Given the description of an element on the screen output the (x, y) to click on. 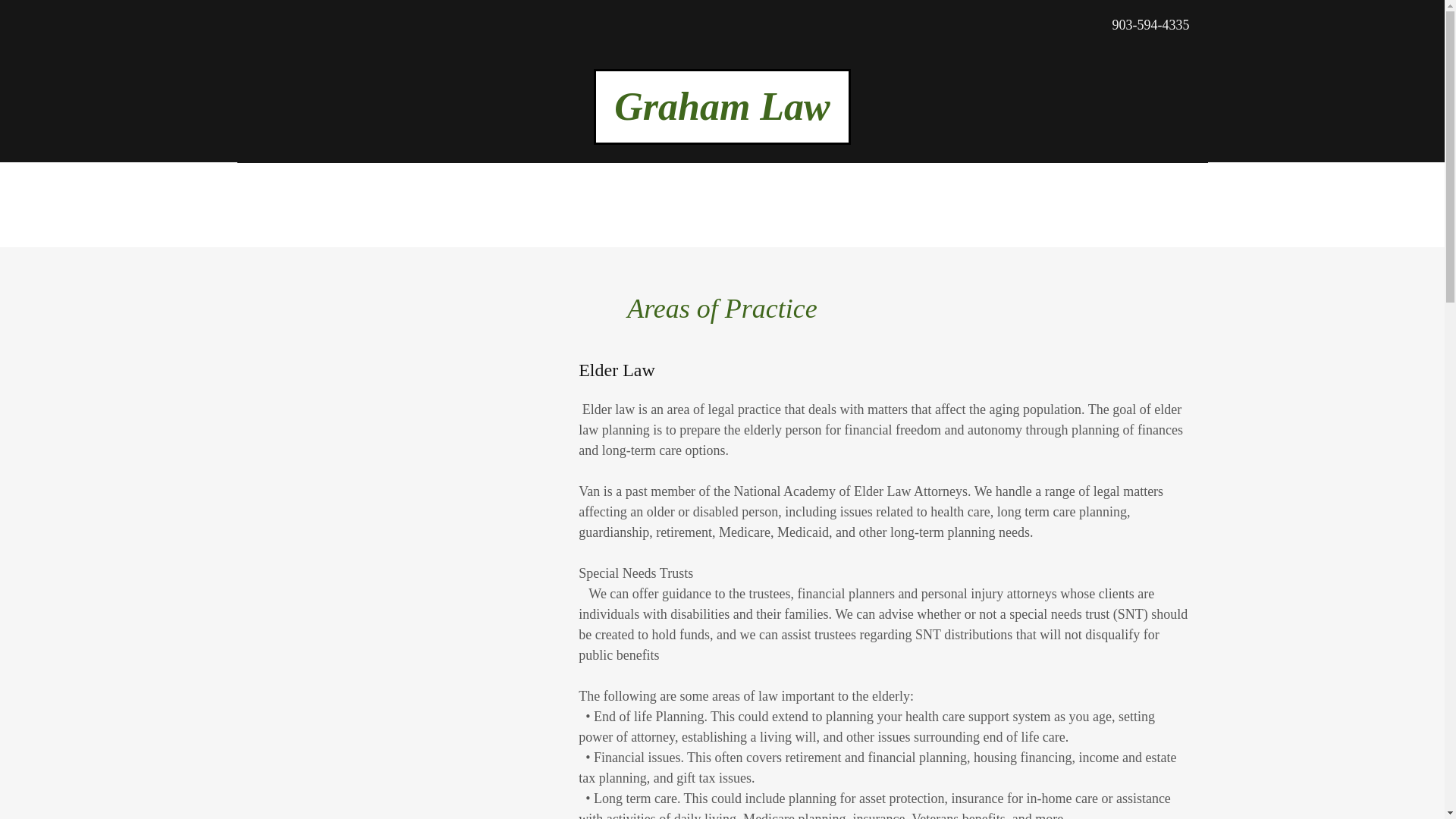
Graham Law (721, 114)
903-594-4335 (1150, 24)
Graham Law (721, 114)
